Given the description of an element on the screen output the (x, y) to click on. 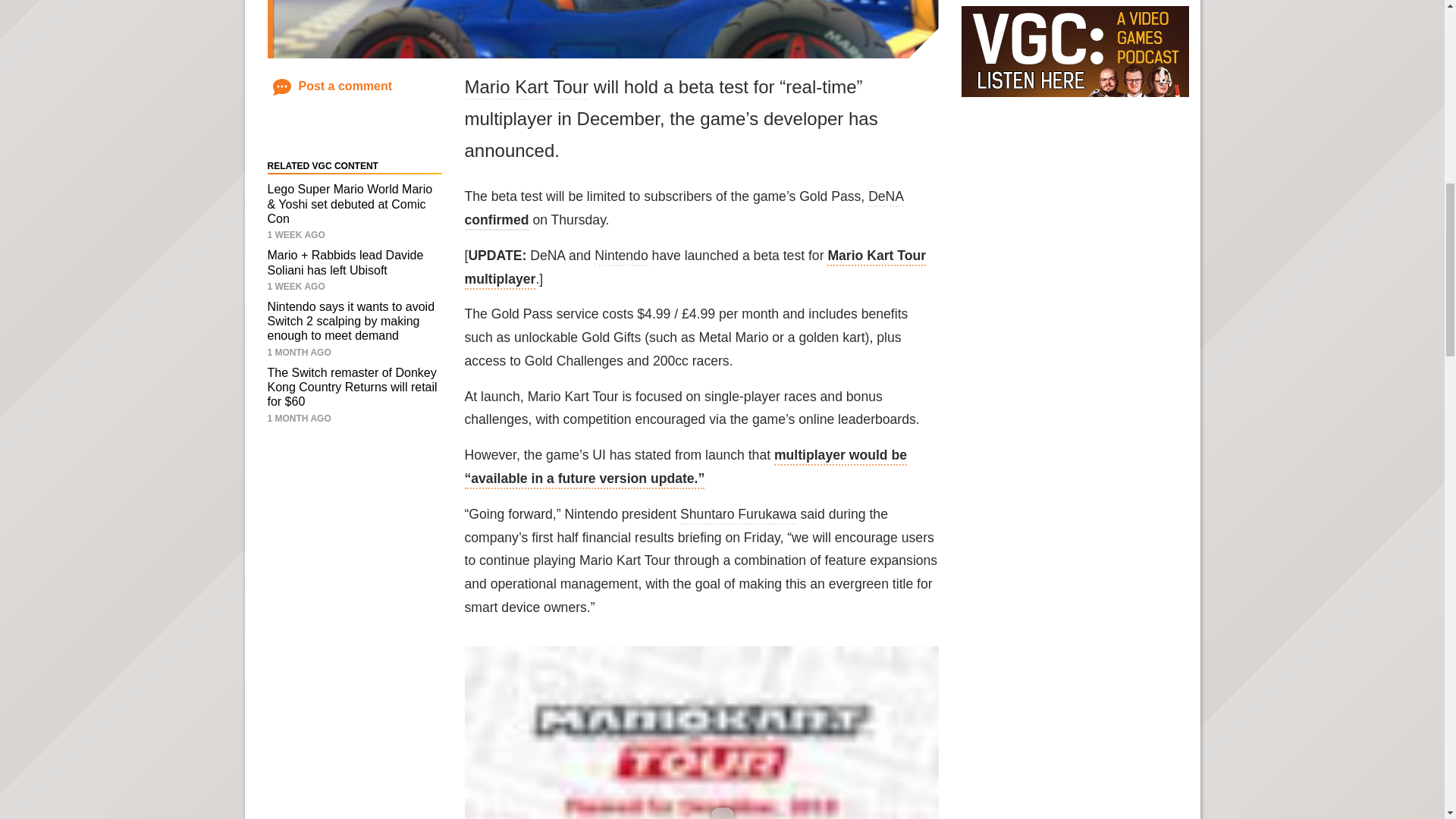
DeNA (884, 198)
Mario Kart Tour (526, 87)
confirmed (496, 221)
Shuntaro Furukawa (737, 515)
Mario Kart Tour multiplayer (695, 268)
Nintendo (620, 257)
